Given the description of an element on the screen output the (x, y) to click on. 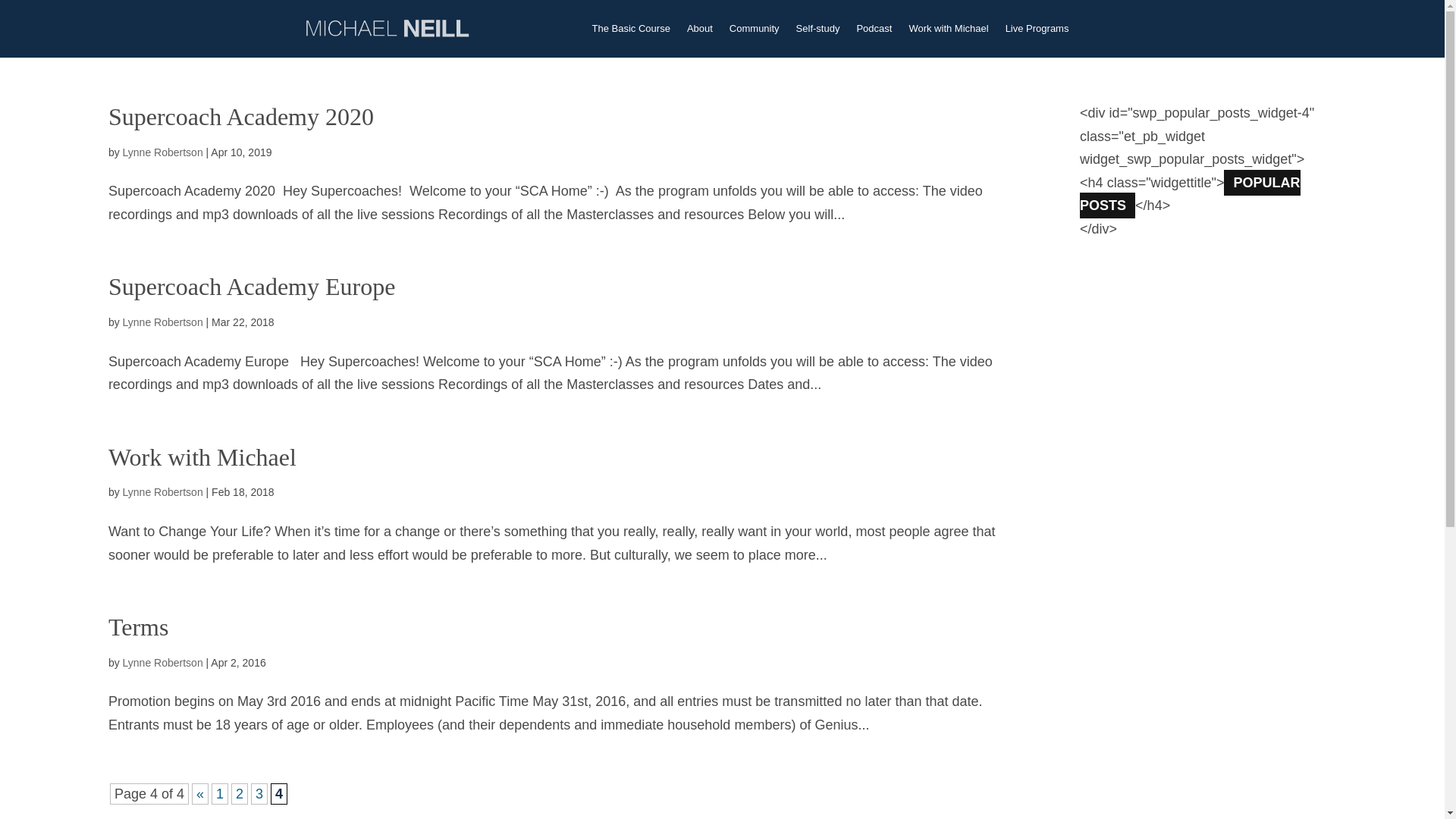
Posts by Lynne Robertson (162, 491)
Lynne Robertson (162, 491)
Posts by Lynne Robertson (162, 662)
Supercoach Academy 2020 (240, 116)
The Basic Course (630, 28)
Lynne Robertson (162, 322)
Terms (137, 626)
Supercoach Academy Europe (251, 286)
Live Programs (1037, 28)
Lynne Robertson (162, 152)
